Given the description of an element on the screen output the (x, y) to click on. 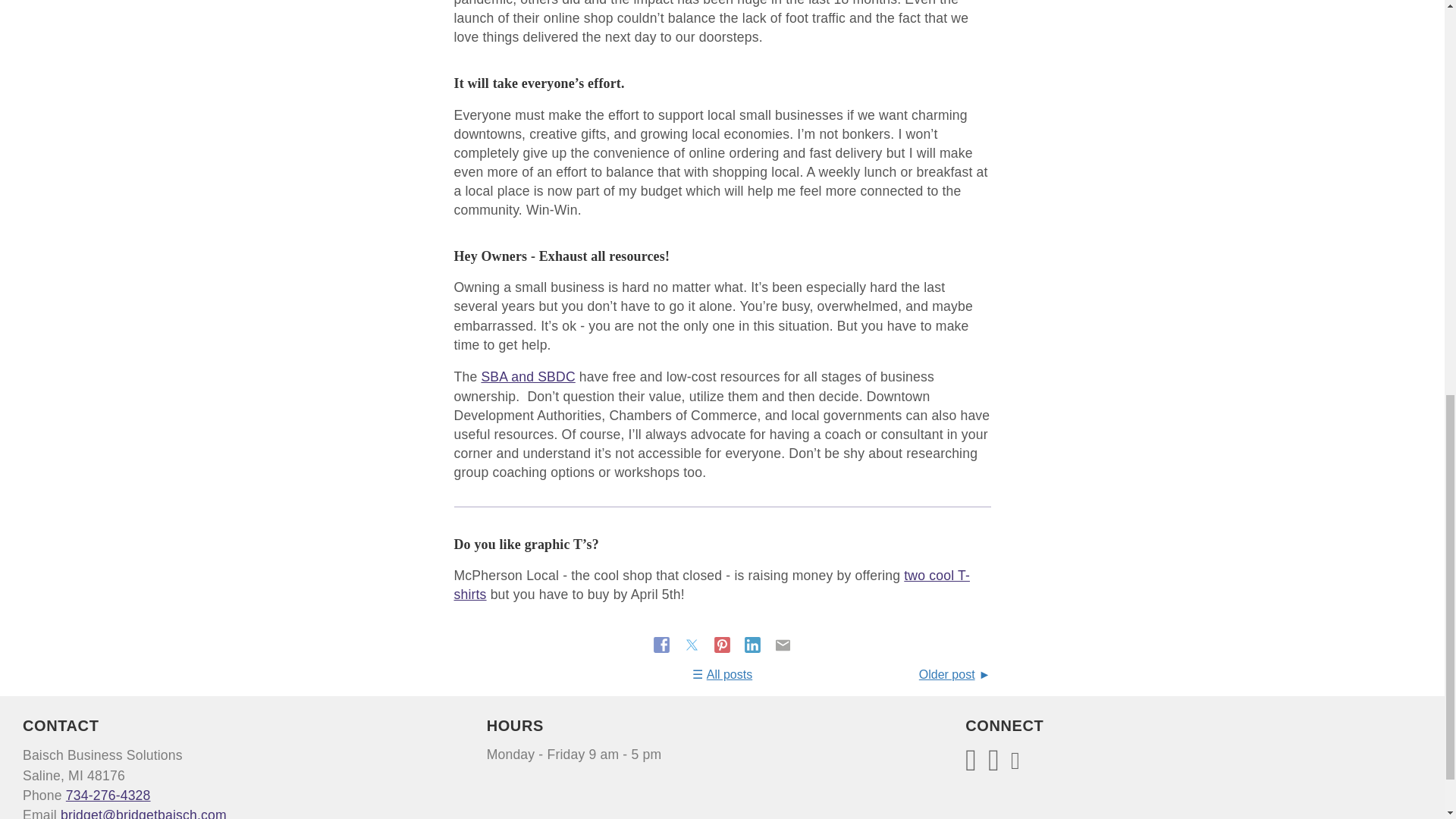
Tweet this (693, 644)
write email (144, 813)
dial number (108, 795)
All posts (722, 674)
734-276-4328 (108, 795)
Share on LinkedIn (753, 644)
Share in an email (782, 644)
Save on Pinterest (724, 644)
two cool T-shirts (710, 584)
Older post (954, 674)
